Given the description of an element on the screen output the (x, y) to click on. 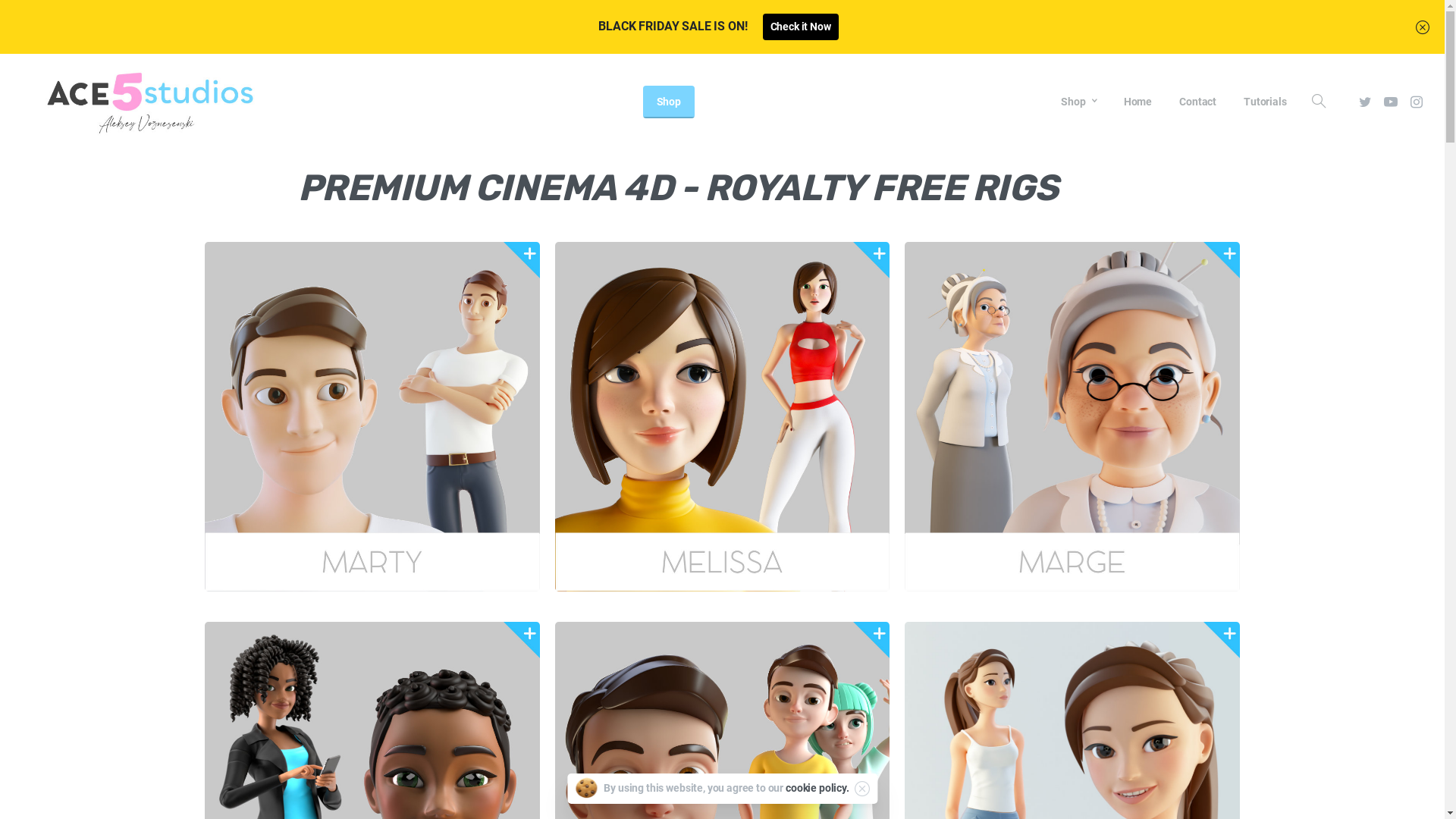
Home Element type: text (1137, 101)
twitter Element type: hover (1364, 101)
Shop Element type: text (1077, 101)
instagram Element type: hover (1416, 101)
Close Element type: hover (1422, 26)
Check it Now Element type: text (800, 26)
youtube Element type: hover (1390, 101)
Shop Element type: text (668, 101)
Contact Element type: text (1197, 101)
cookie policy. Element type: text (817, 787)
Tutorials Element type: text (1264, 101)
